Given the description of an element on the screen output the (x, y) to click on. 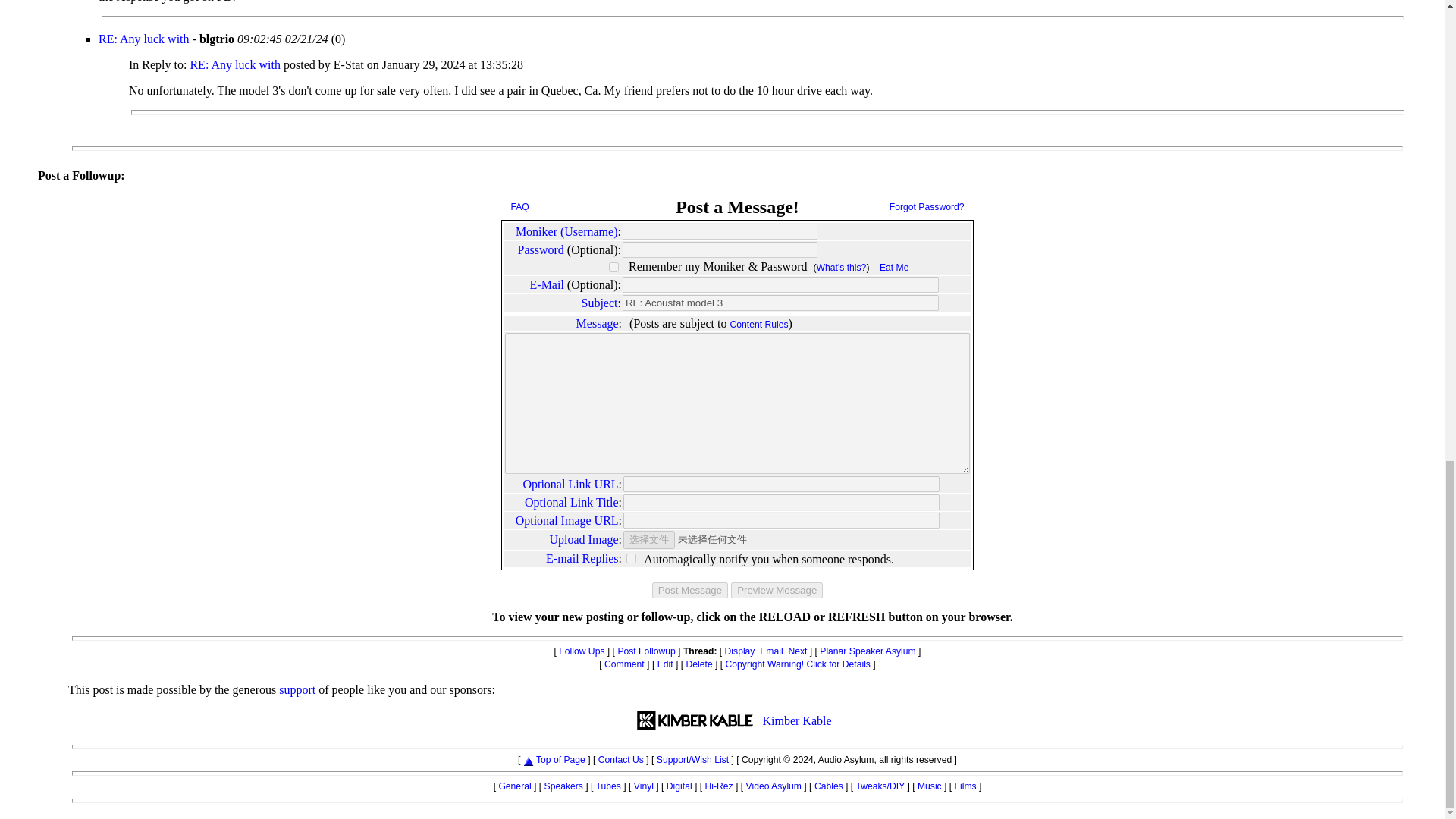
What's this? (841, 267)
Eat Me (893, 267)
Message (597, 323)
Upload Image (584, 539)
Follow Ups (581, 651)
RE: Any luck with (236, 64)
Forgot Password? (926, 206)
RE: Acoustat model 3 (781, 302)
Optional Link Title (571, 502)
Password (541, 249)
